Given the description of an element on the screen output the (x, y) to click on. 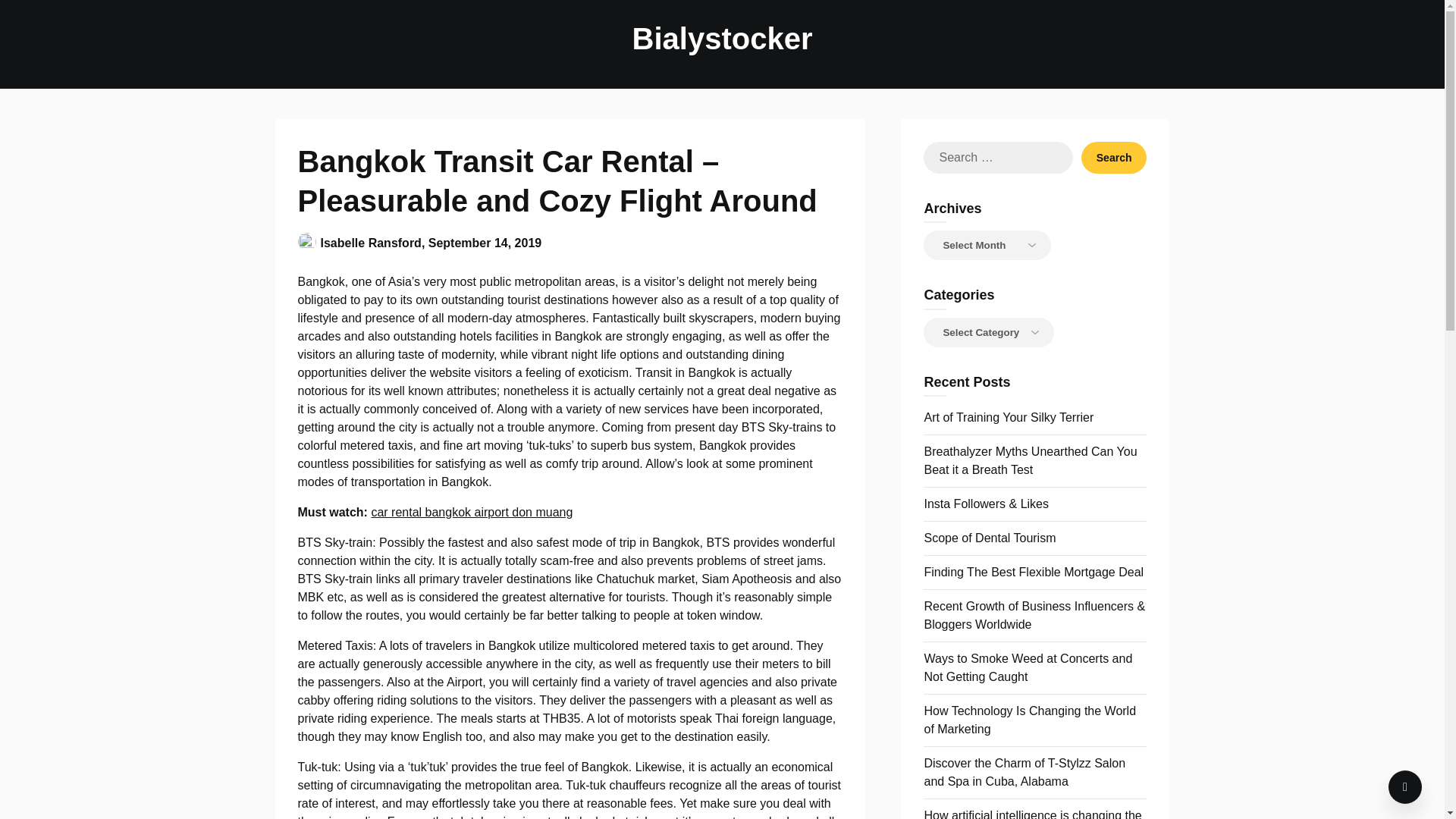
Scope of Dental Tourism (989, 537)
Search (1114, 157)
Bialystocker (722, 38)
To Top (1405, 786)
Ways to Smoke Weed at Concerts and Not Getting Caught (1027, 667)
car rental bangkok airport don muang (471, 512)
Search (1114, 157)
How Technology Is Changing the World of Marketing (1029, 719)
Finding The Best Flexible Mortgage Deal (1032, 571)
Art of Training Your Silky Terrier (1008, 417)
Search (1114, 157)
September 14, 2019 (484, 242)
Breathalyzer Myths Unearthed Can You Beat it a Breath Test (1030, 460)
